Given the description of an element on the screen output the (x, y) to click on. 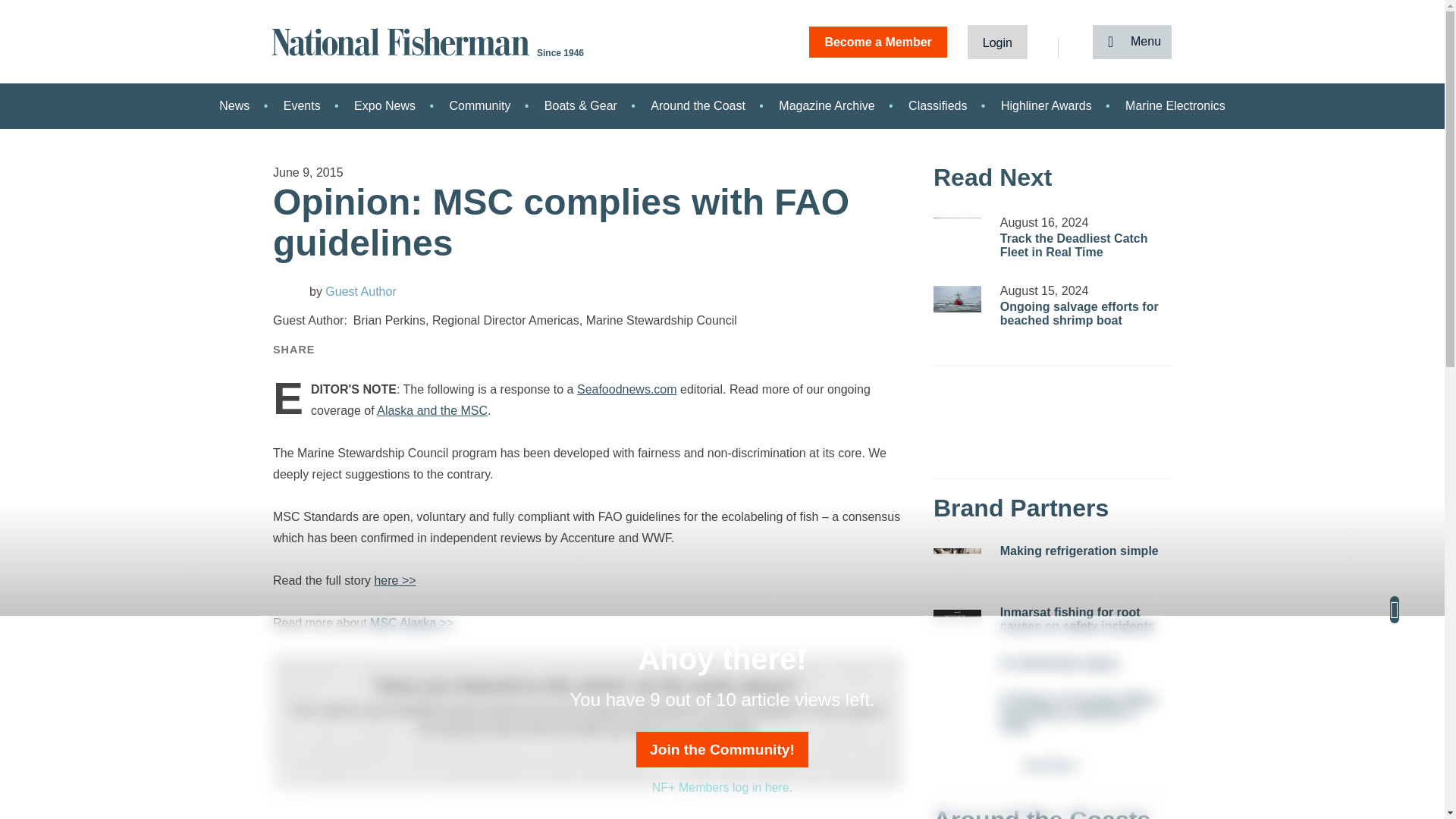
Login (997, 41)
Become a Member (877, 41)
Guest Author (287, 291)
National Fisherman (403, 40)
Email Us (578, 758)
Guest Author (352, 291)
Connect with us on LinkedIn (596, 758)
